Given the description of an element on the screen output the (x, y) to click on. 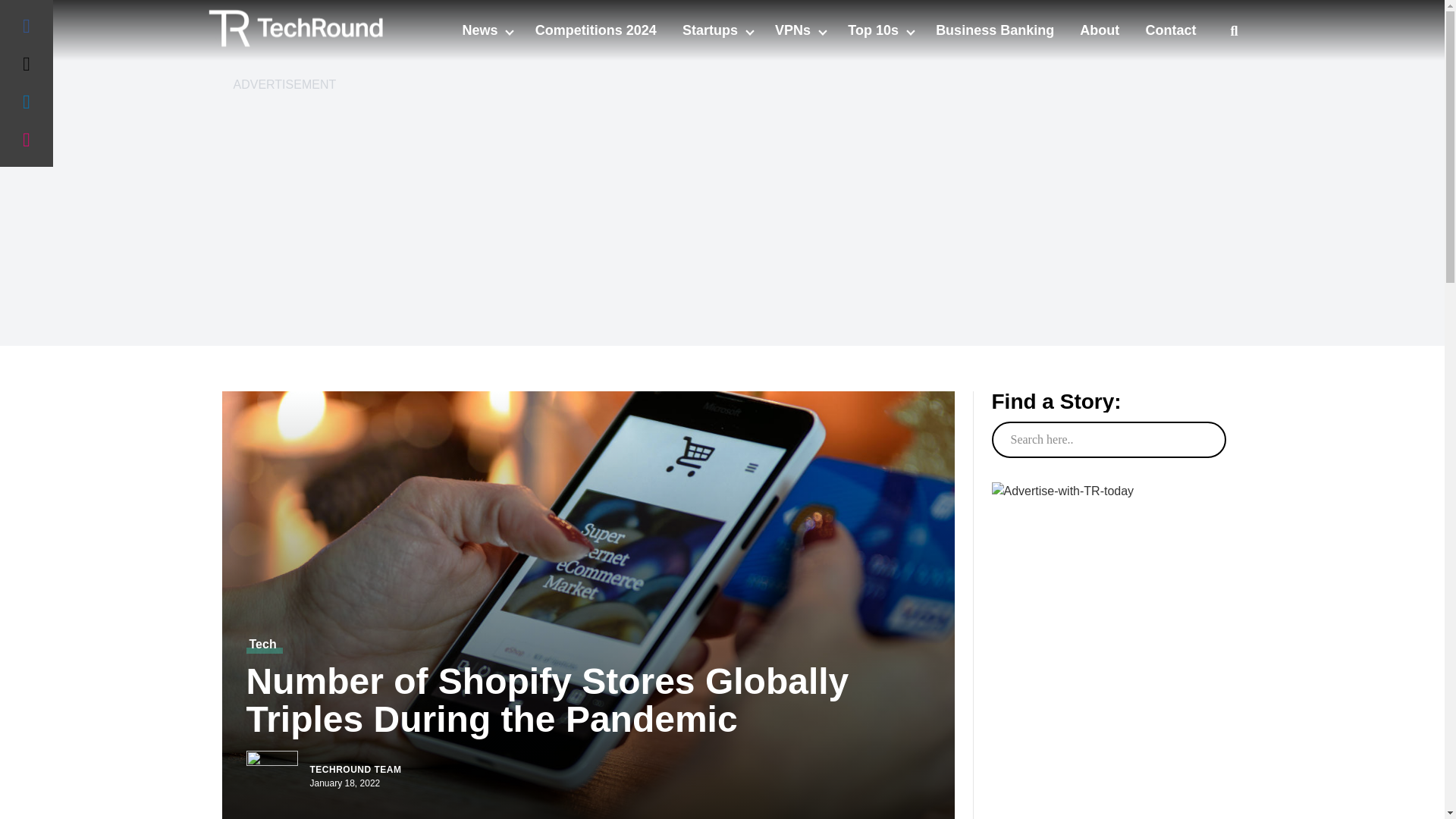
News (480, 30)
VPNs (793, 30)
Top 10s (874, 30)
Advertisement (1107, 777)
Competitions 2024 (596, 30)
Startups (711, 30)
